Given the description of an element on the screen output the (x, y) to click on. 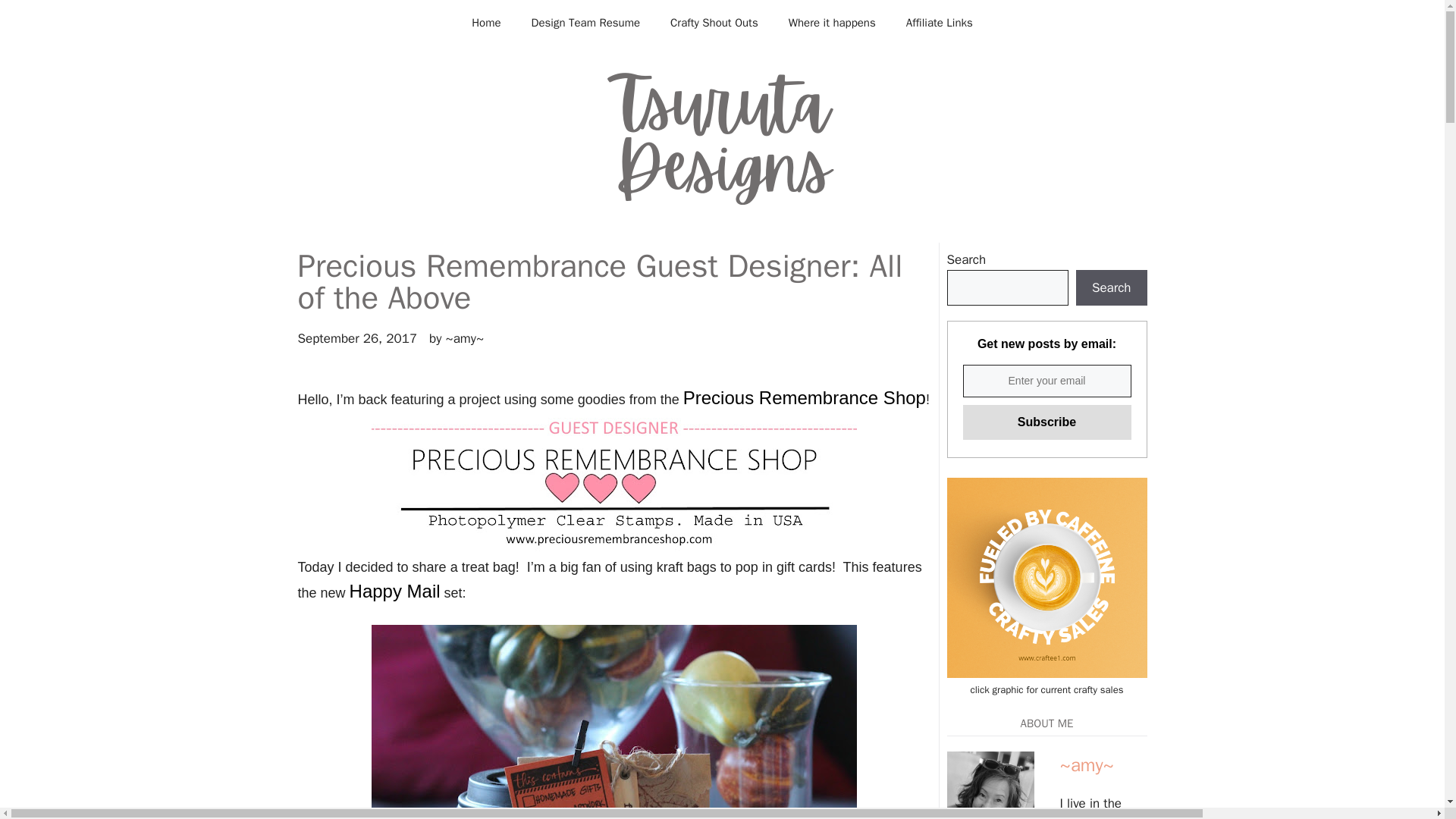
Search (1111, 288)
Crafty Shout Outs (714, 22)
Happy Mail (395, 593)
Precious Remembrance Shop (804, 400)
Where it happens (832, 22)
Affiliate Links (939, 22)
Home (486, 22)
Subscribe (1046, 421)
Design Team Resume (586, 22)
Subscribe (1046, 421)
